Given the description of an element on the screen output the (x, y) to click on. 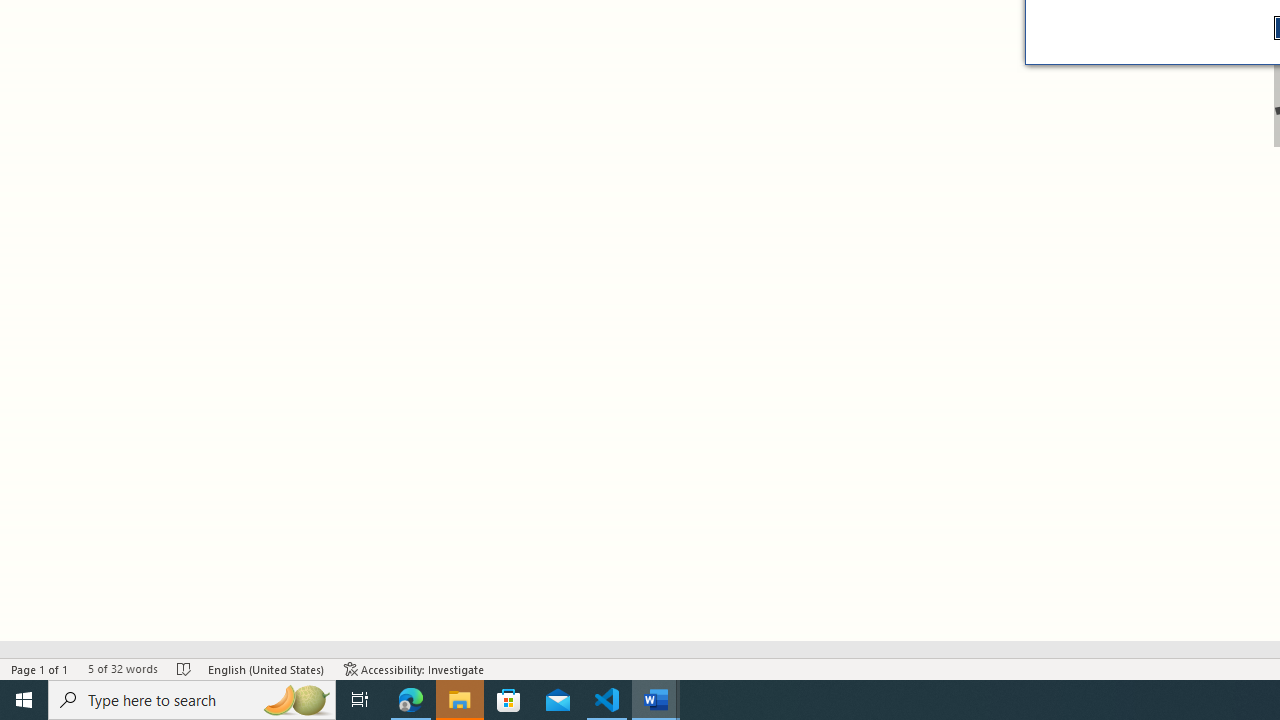
Microsoft Edge - 1 running window (411, 699)
Word - 2 running windows (656, 699)
Spelling and Grammar Check No Errors (184, 668)
File Explorer - 1 running window (460, 699)
Word Count 5 of 32 words (122, 668)
Page Number Page 1 of 1 (39, 668)
